Given the description of an element on the screen output the (x, y) to click on. 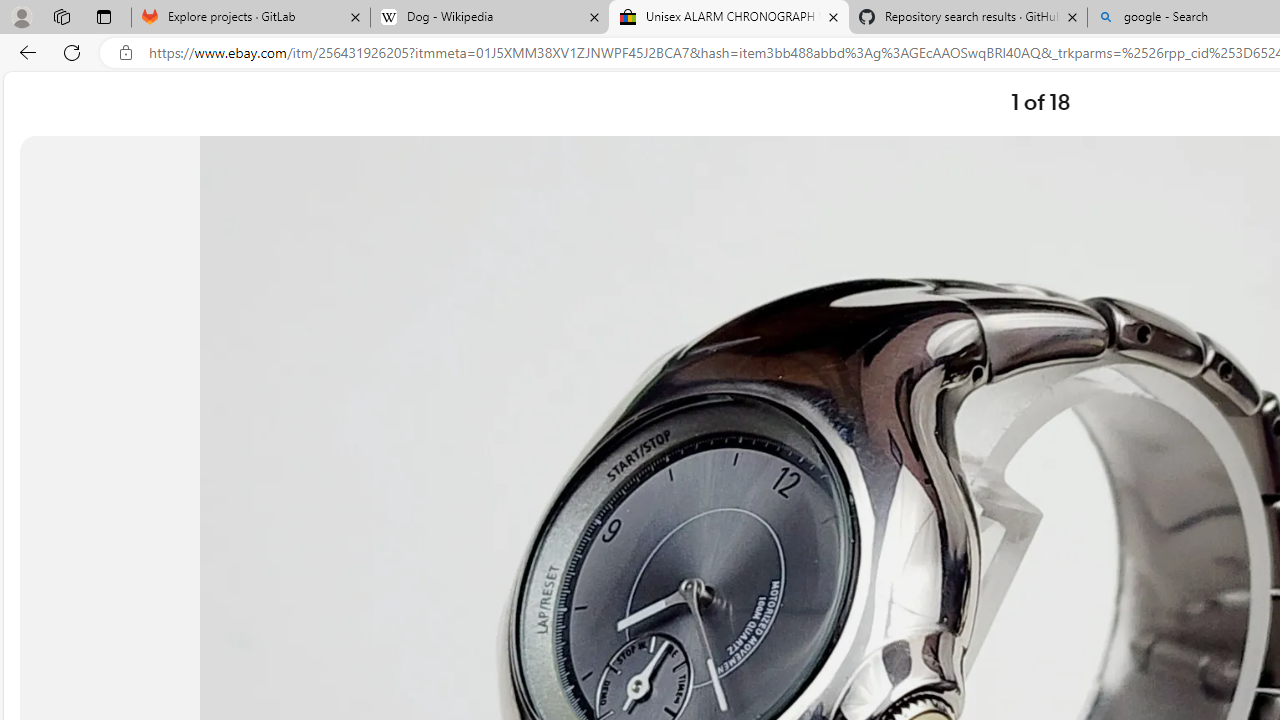
Dog - Wikipedia (490, 17)
